Given the description of an element on the screen output the (x, y) to click on. 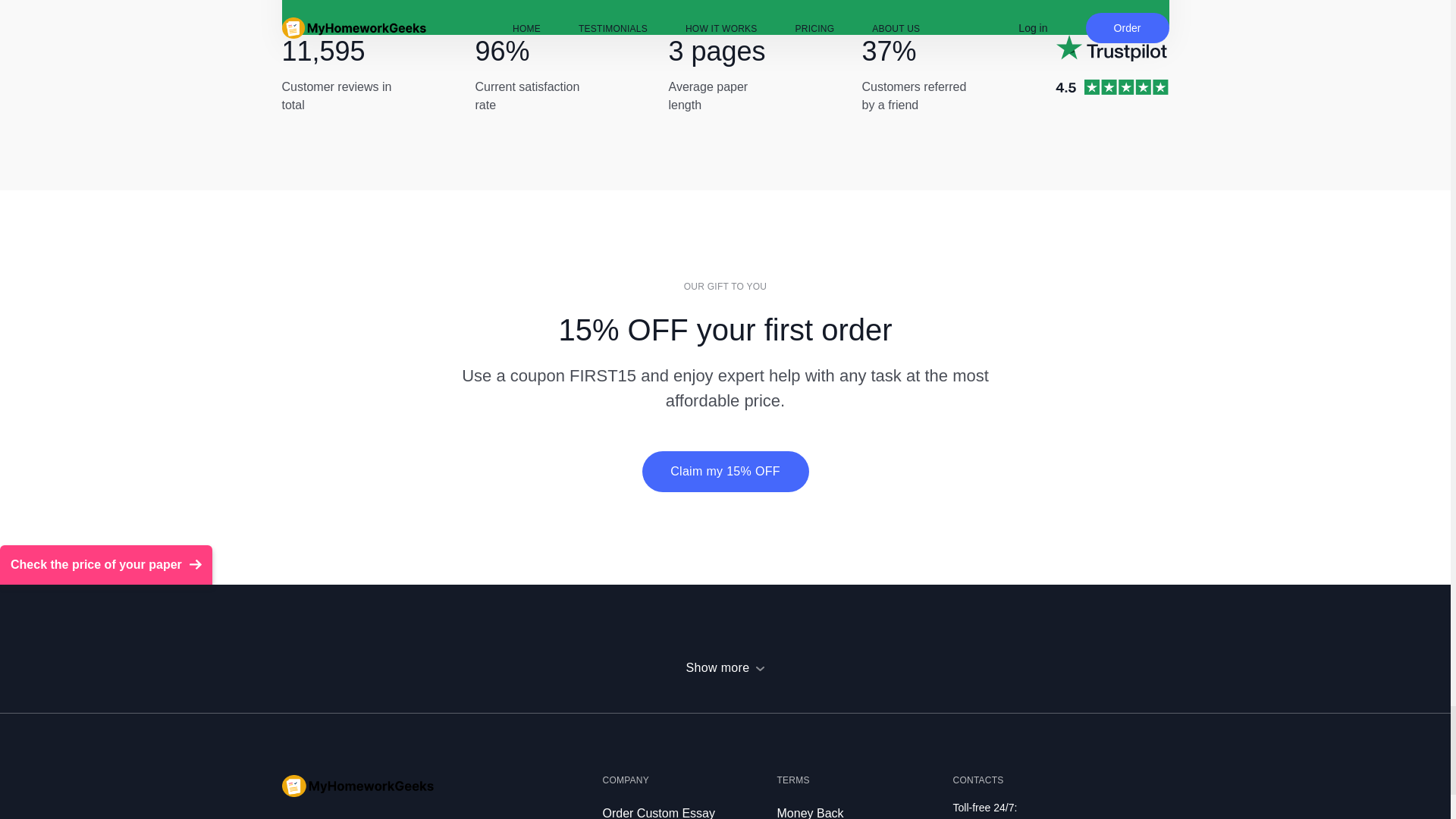
Order Custom Essay (658, 812)
Show more (725, 667)
Money Back Guarantee (809, 812)
